Given the description of an element on the screen output the (x, y) to click on. 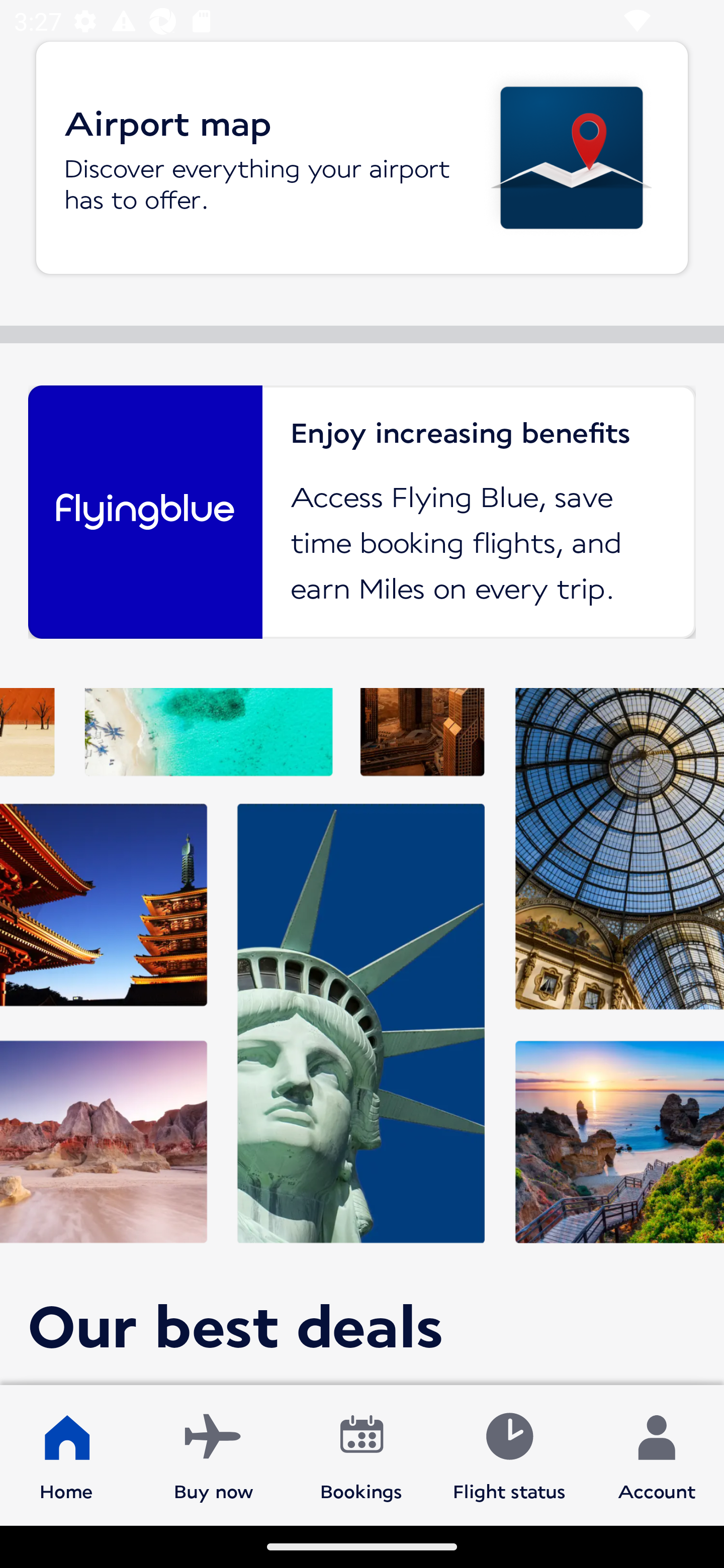
Our best deals (362, 1036)
Buy now (213, 1454)
Bookings (361, 1454)
Flight status (509, 1454)
Account (657, 1454)
